Given the description of an element on the screen output the (x, y) to click on. 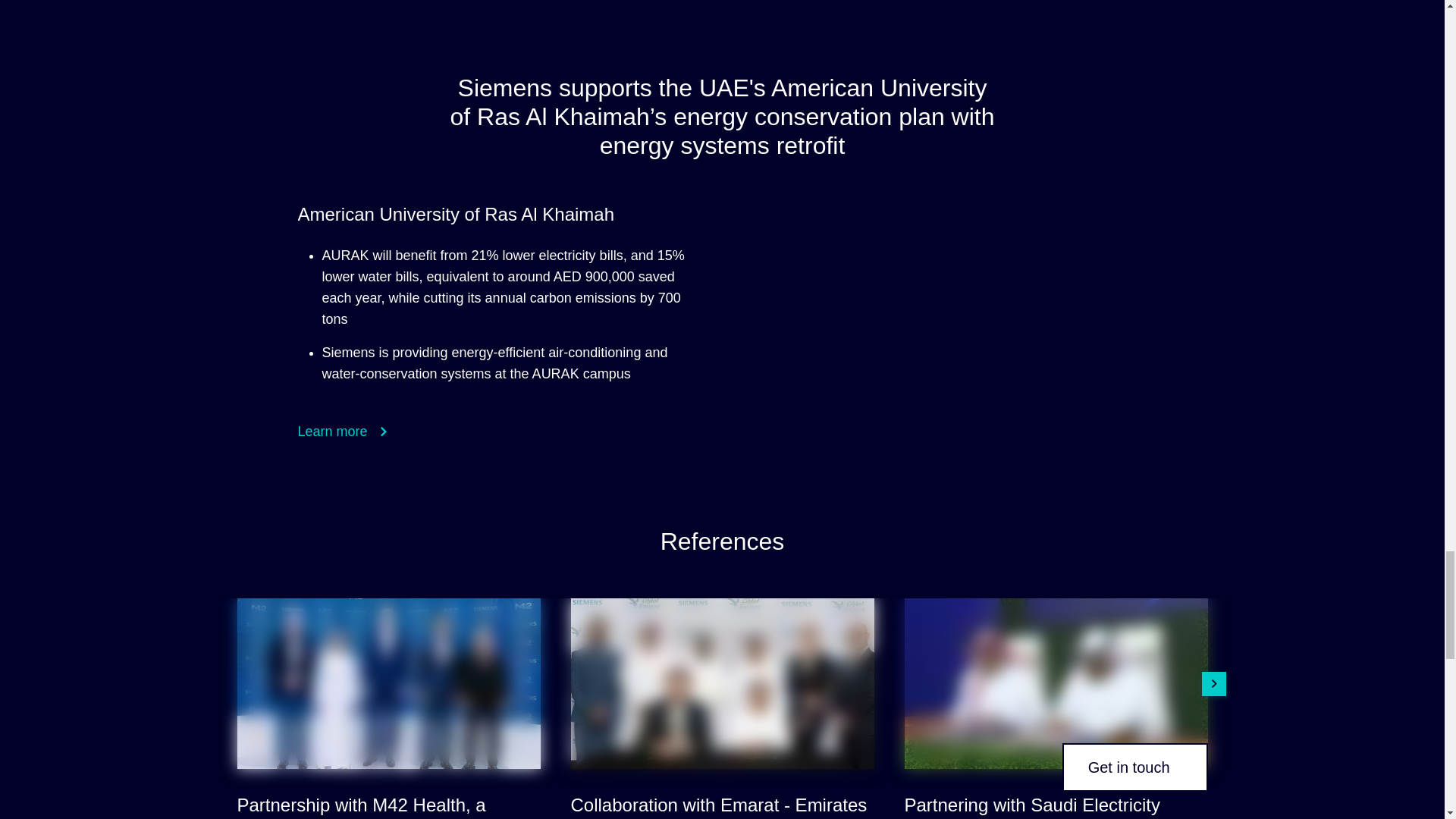
Learn more (341, 430)
